Given the description of an element on the screen output the (x, y) to click on. 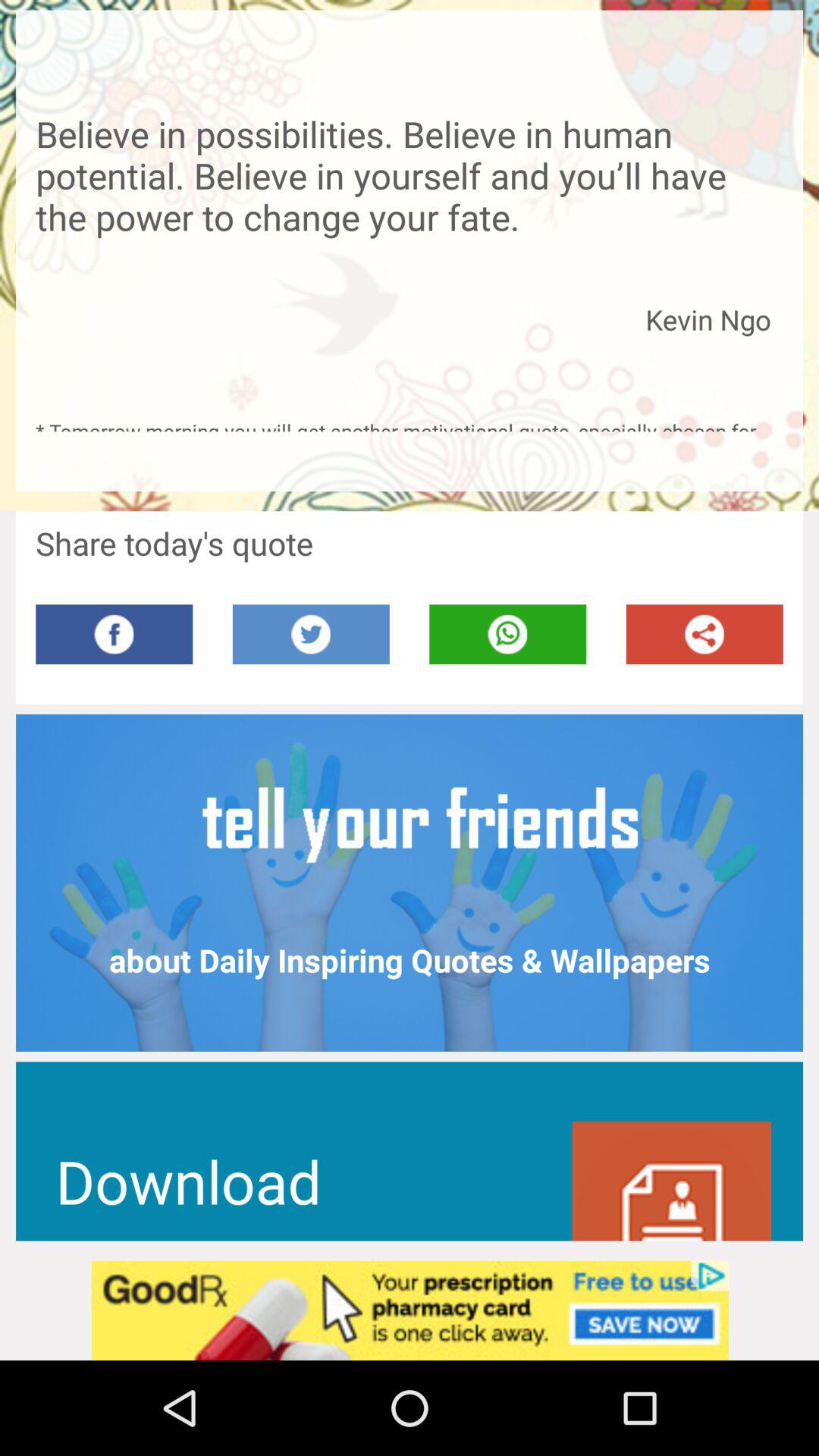
share with whatsapp (507, 634)
